Given the description of an element on the screen output the (x, y) to click on. 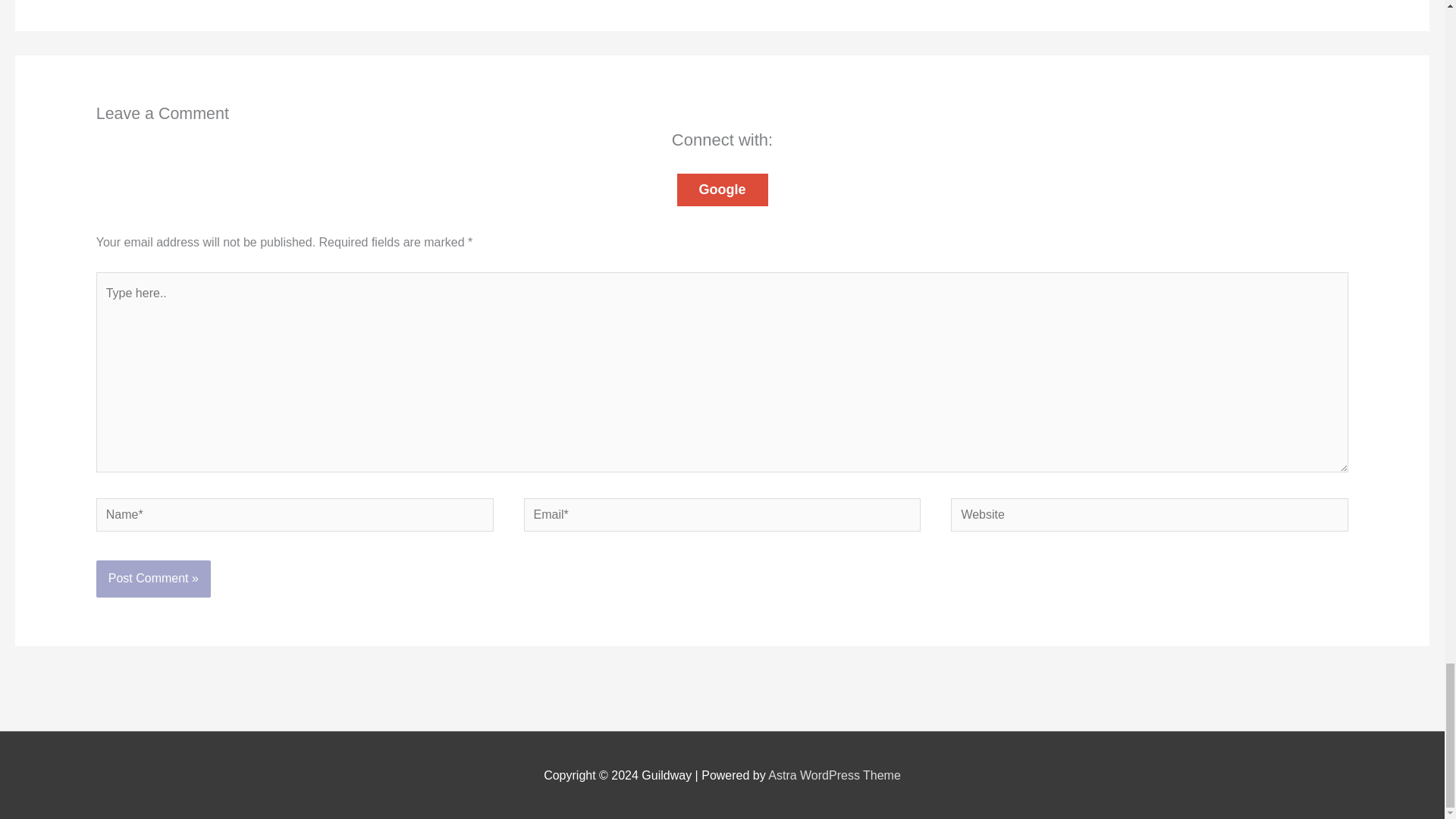
Astra WordPress Theme (834, 775)
Google (722, 189)
Connect with Google (722, 189)
